Given the description of an element on the screen output the (x, y) to click on. 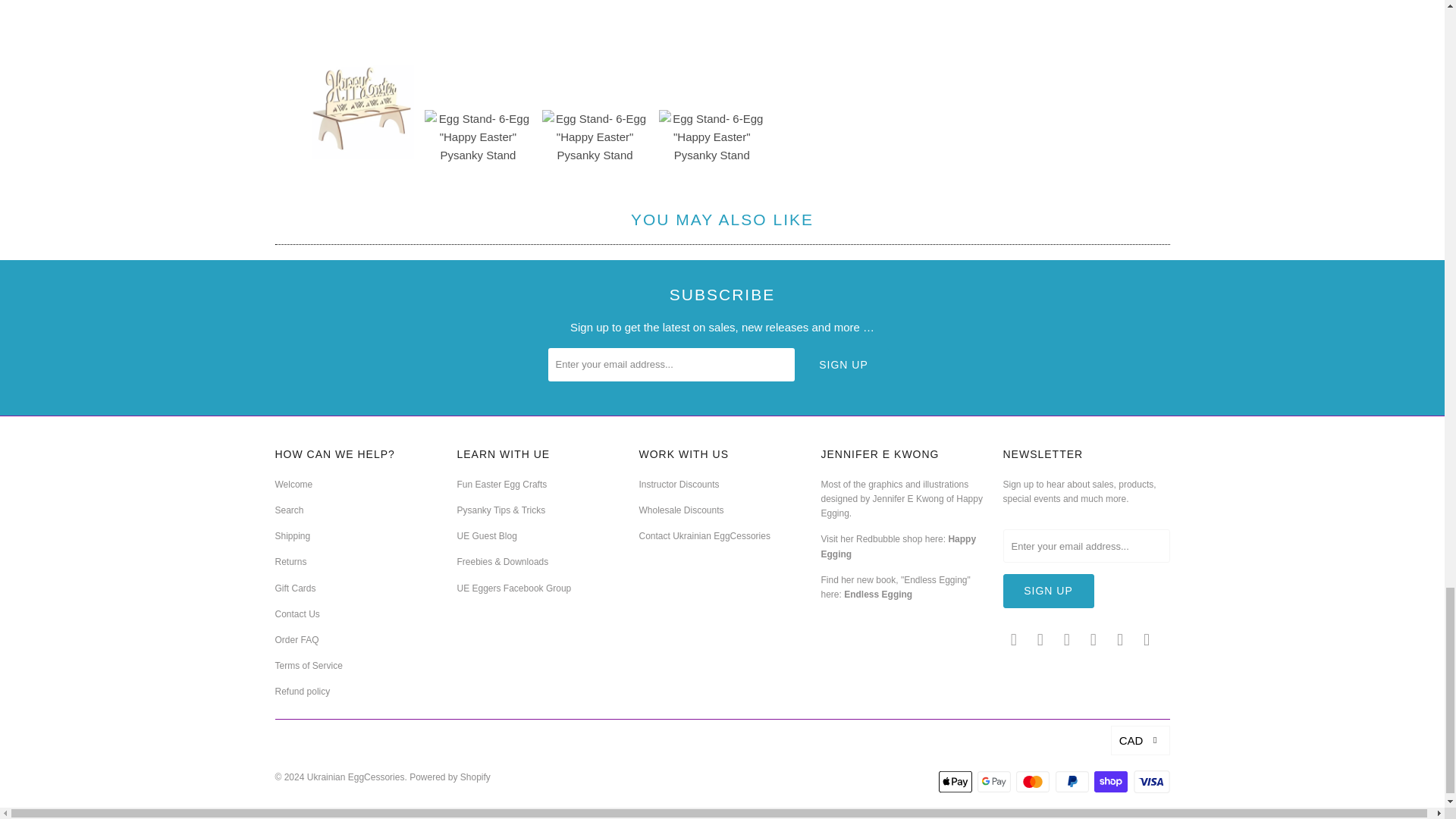
Ukrainian EggCessories on Facebook (1040, 639)
Ukrainian EggCessories on YouTube (1067, 639)
Visa (1150, 781)
Google Pay (994, 781)
Sign Up (842, 364)
Ukrainian EggCessories on Twitter (1014, 639)
Apple Pay (957, 781)
Ukrainian EggCessories on Pinterest (1094, 639)
Sign Up (1048, 591)
Shop Pay (1112, 781)
PayPal (1073, 781)
Mastercard (1034, 781)
